Given the description of an element on the screen output the (x, y) to click on. 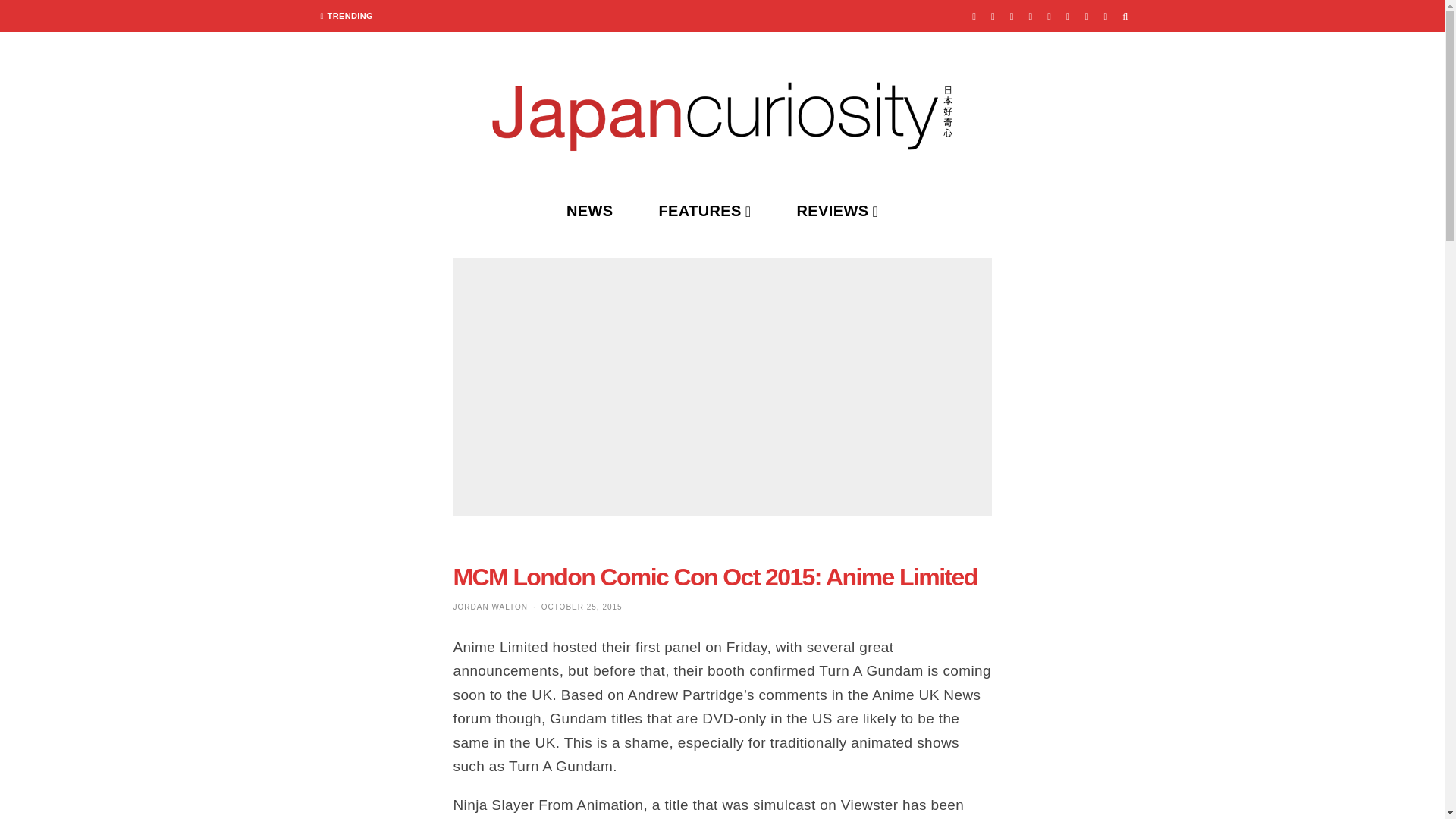
NEWS (589, 211)
TRENDING (346, 15)
FEATURES (703, 211)
